Given the description of an element on the screen output the (x, y) to click on. 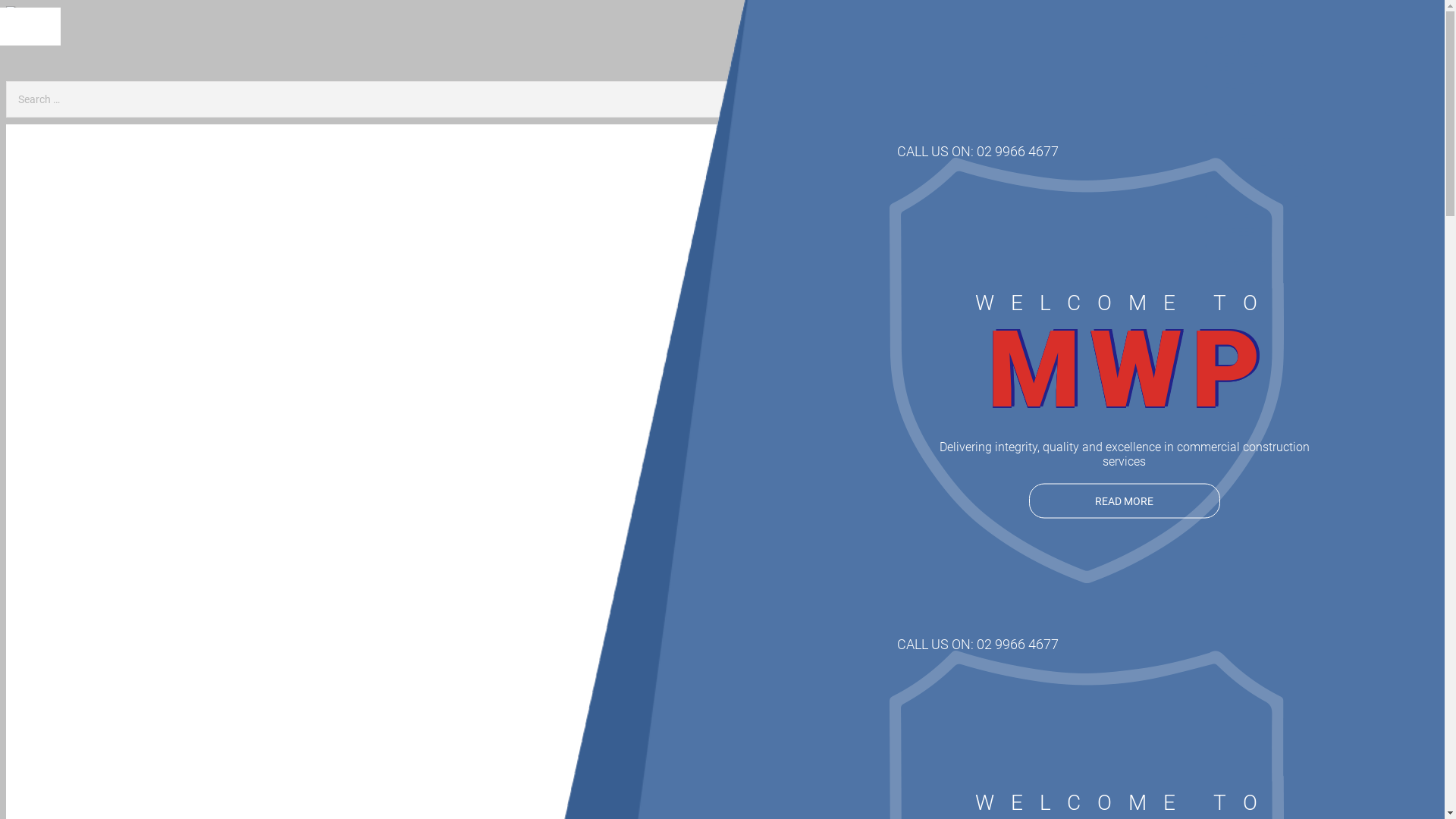
CONTACT US Element type: text (1247, 260)
WATERPROOFING Element type: text (1315, 141)
HIRE A PAINTER Element type: text (1315, 114)
CEMENT RENDERING Element type: text (1315, 168)
SERVICES Element type: text (1240, 80)
REMEDIAL WORKS Element type: text (1315, 196)
HOME Element type: text (1231, 51)
CAREERS Element type: text (1239, 245)
READ MORE Element type: text (1123, 500)
Search for: Element type: hover (567, 99)
ABOUT US Element type: text (1241, 66)
PROJECTS Element type: text (1242, 231)
PAINTING Element type: text (1315, 86)
